Given the description of an element on the screen output the (x, y) to click on. 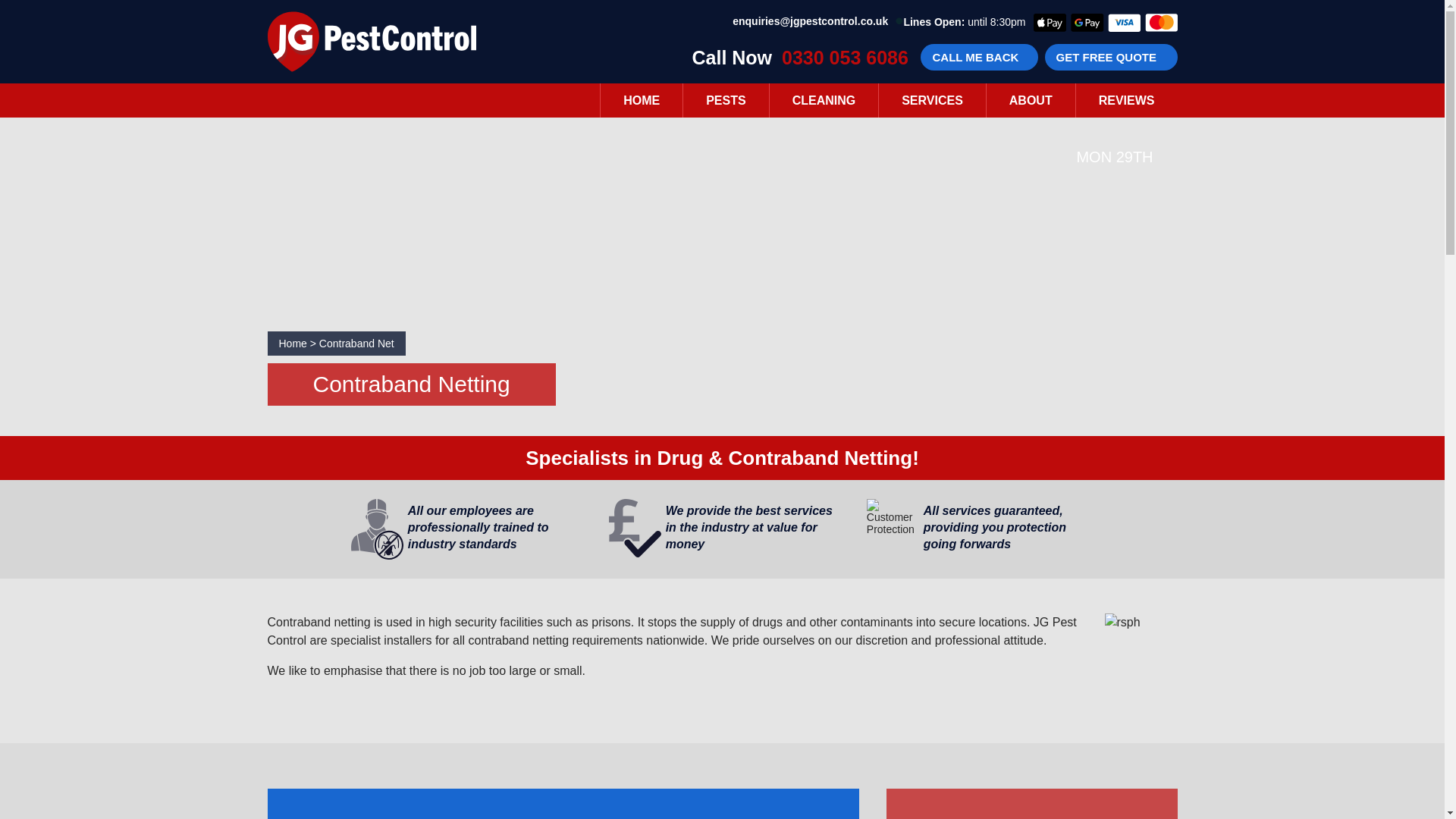
CALL ME BACK (979, 57)
Go to JG Pest Control. (293, 343)
ABOUT (1031, 100)
HOME (640, 100)
GET FREE QUOTE (1111, 57)
PESTS (725, 100)
CLEANING (824, 100)
REVIEWS (1126, 100)
SERVICES (932, 100)
